Given the description of an element on the screen output the (x, y) to click on. 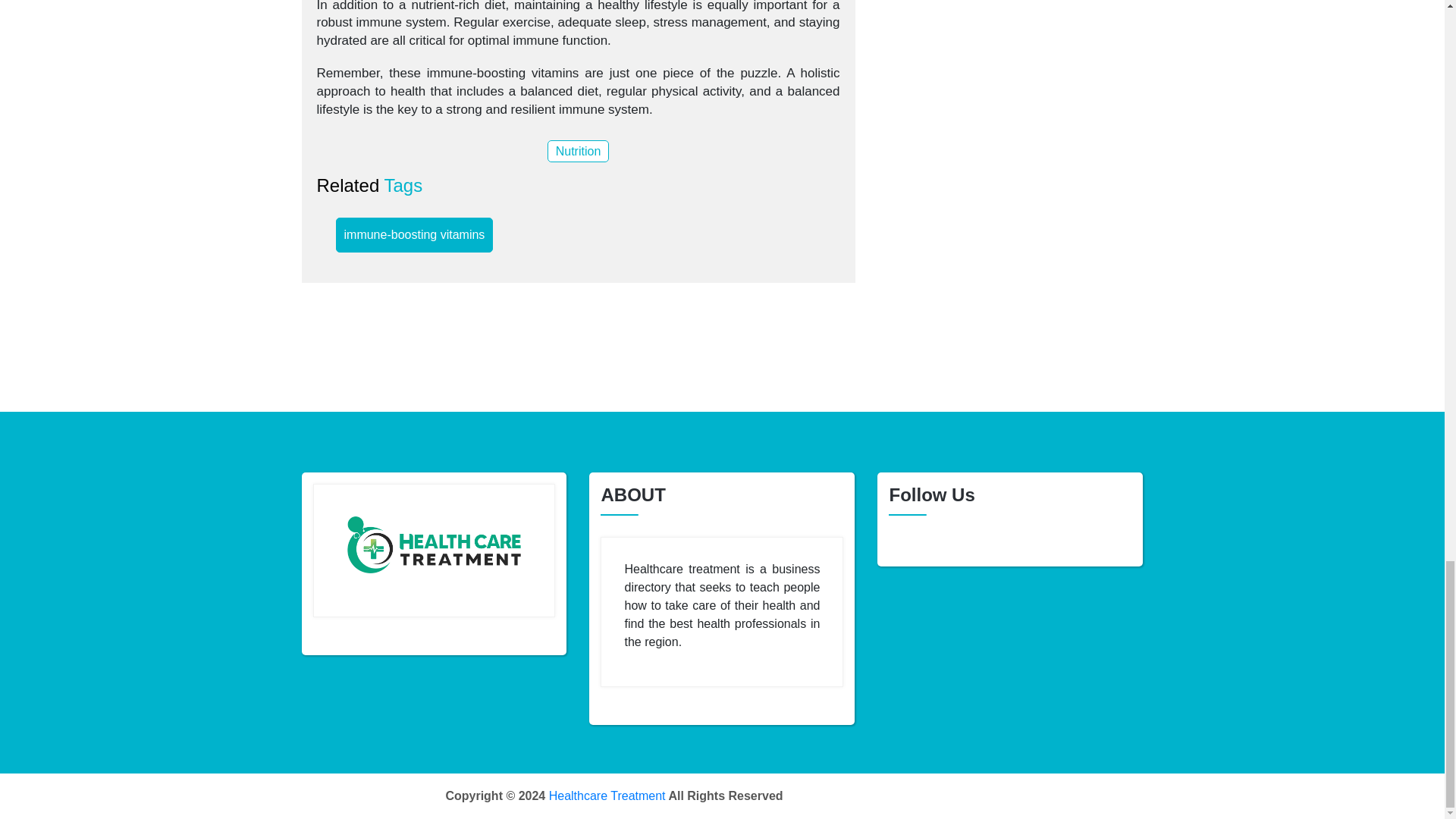
Nutrition (578, 151)
immune-boosting vitamins (413, 234)
Healthcare Treatment (606, 795)
